Given the description of an element on the screen output the (x, y) to click on. 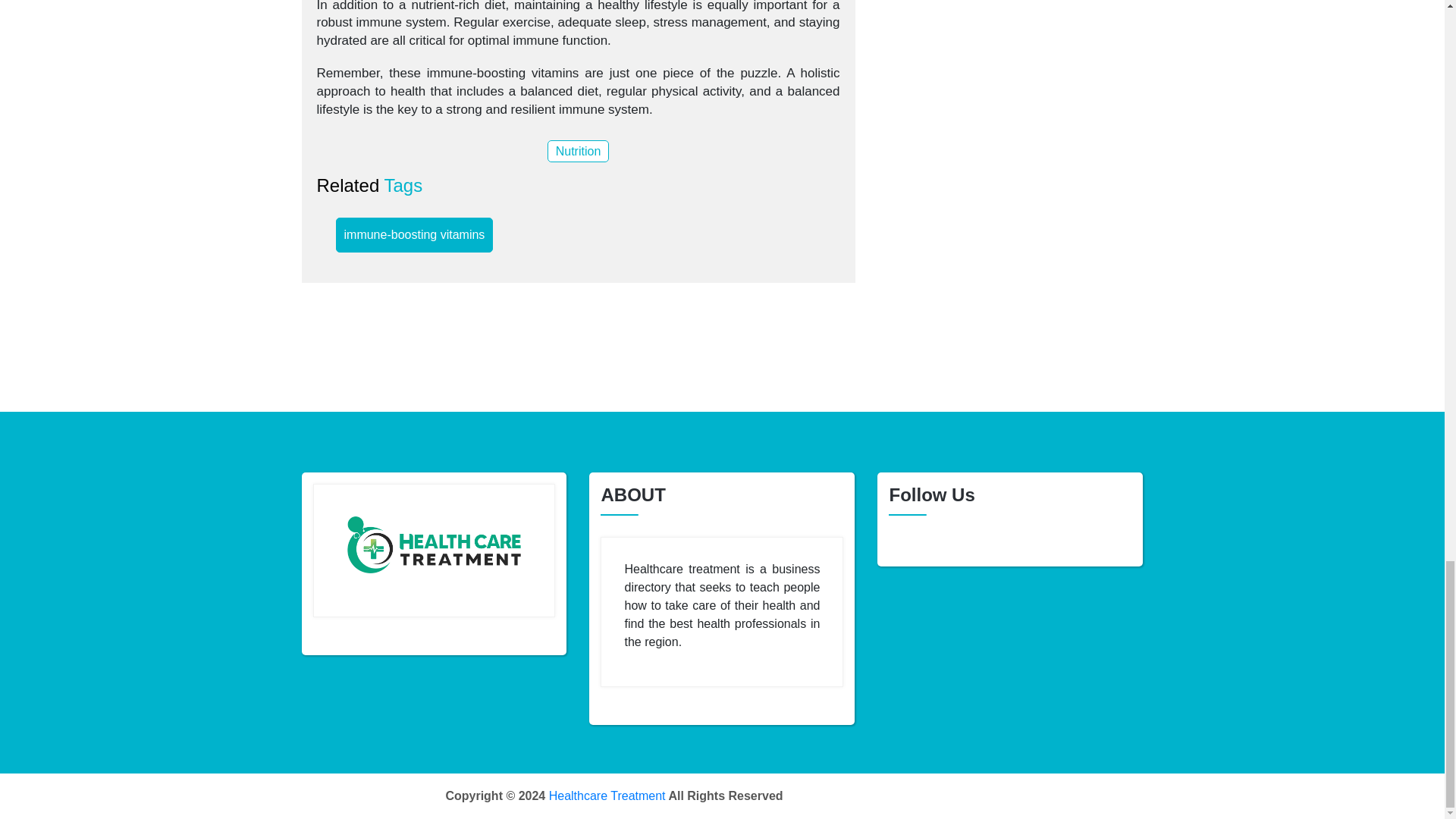
Nutrition (578, 151)
immune-boosting vitamins (413, 234)
Healthcare Treatment (606, 795)
